Given the description of an element on the screen output the (x, y) to click on. 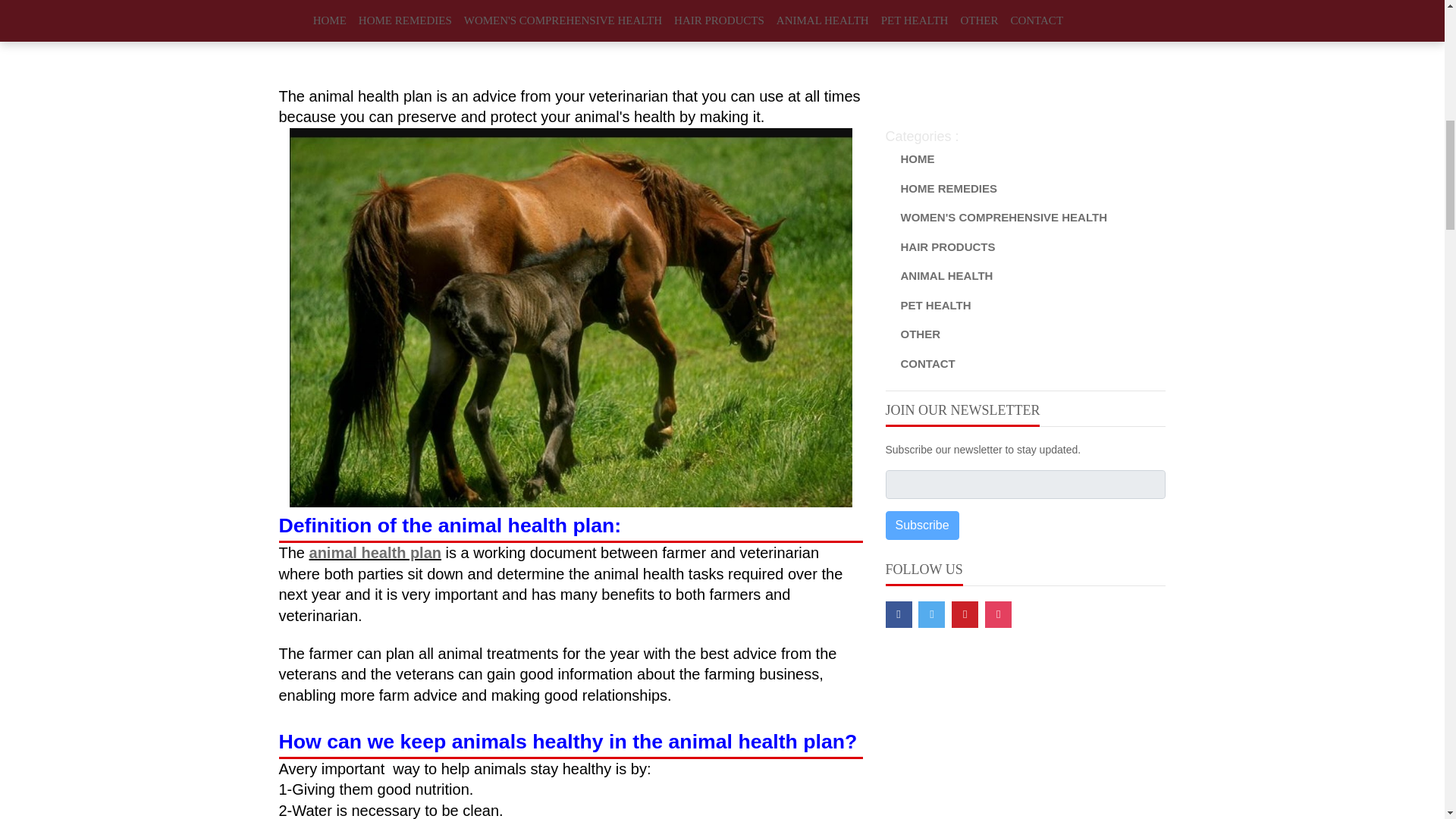
Advertisement (571, 43)
animal health plan (374, 552)
Advertisement (1025, 53)
Subscribe (922, 525)
